Given the description of an element on the screen output the (x, y) to click on. 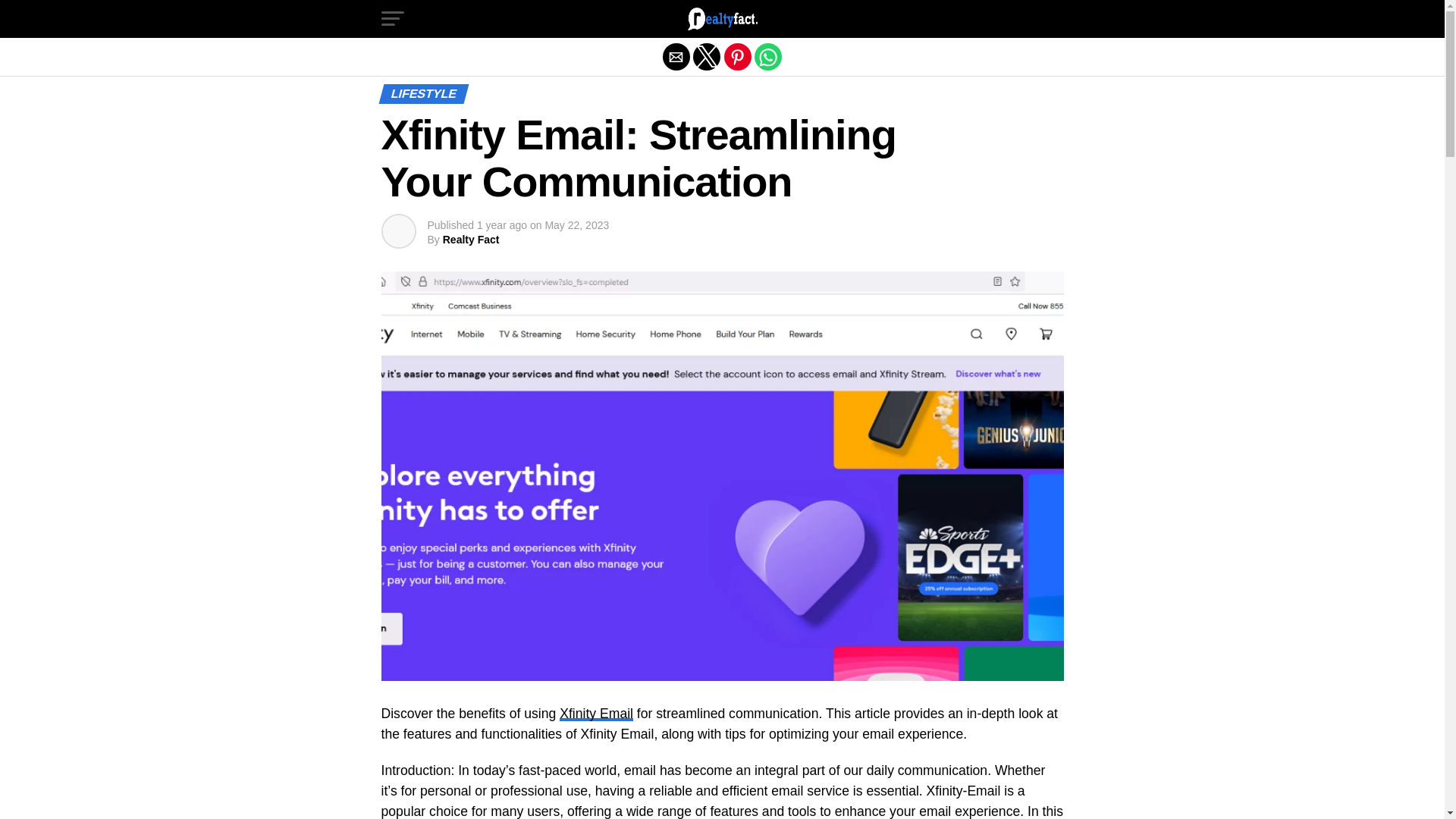
Realty Fact (470, 239)
Posts by Realty Fact (470, 239)
Xfinity Email (596, 713)
